Given the description of an element on the screen output the (x, y) to click on. 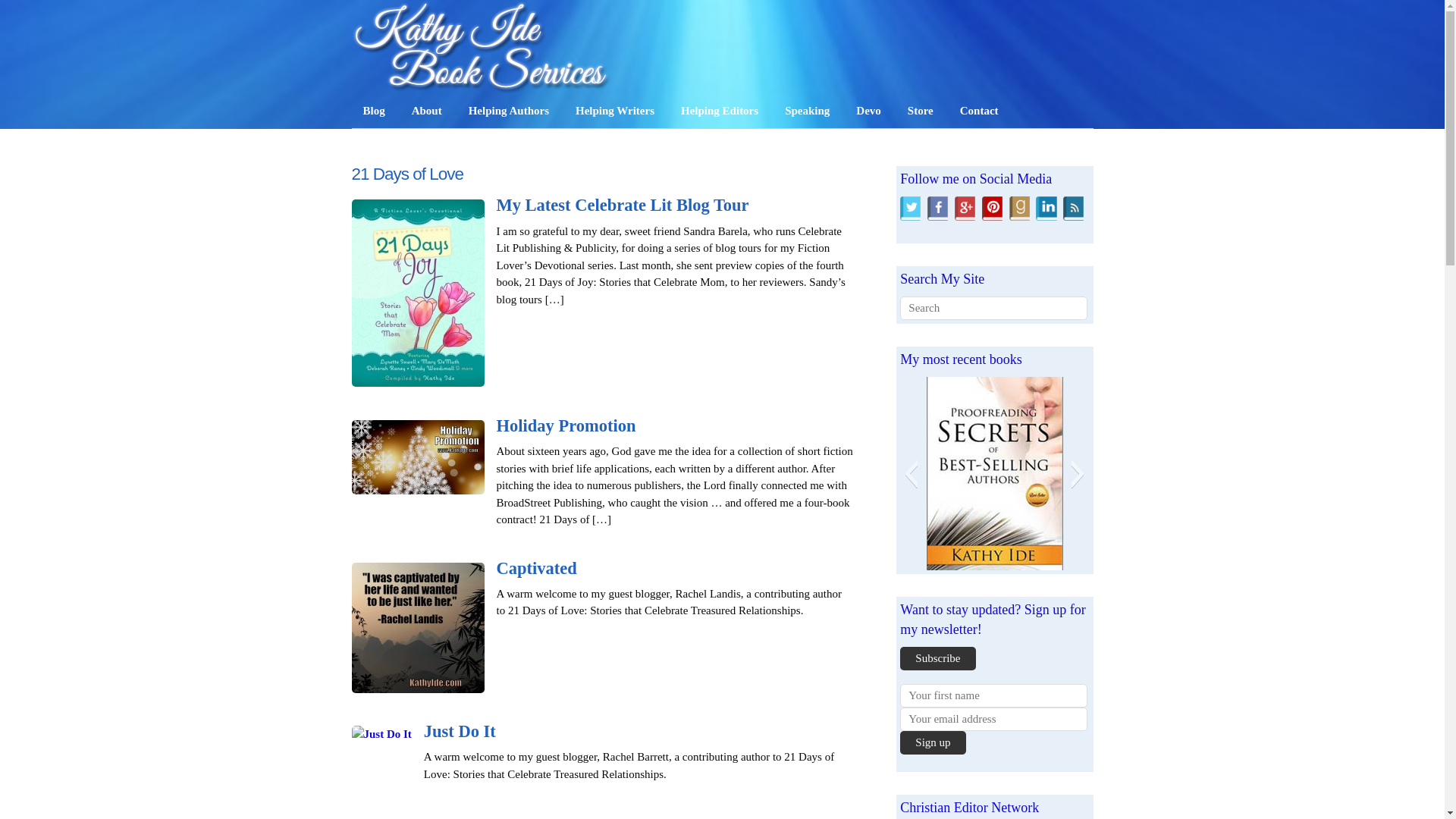
About (426, 110)
Just Do It (459, 731)
Helping Editors (719, 110)
Twitter (909, 207)
Captivated (536, 568)
Kathy Ide Writing and Editing Services (482, 84)
Blog (374, 110)
My Latest Celebrate Lit Blog Tour (622, 204)
Store (920, 110)
Facebook (937, 207)
RSS (1072, 207)
Contact (979, 110)
Speaking (807, 110)
Sign up (932, 742)
Kathy Ide Writing and Editing Services (482, 47)
